Given the description of an element on the screen output the (x, y) to click on. 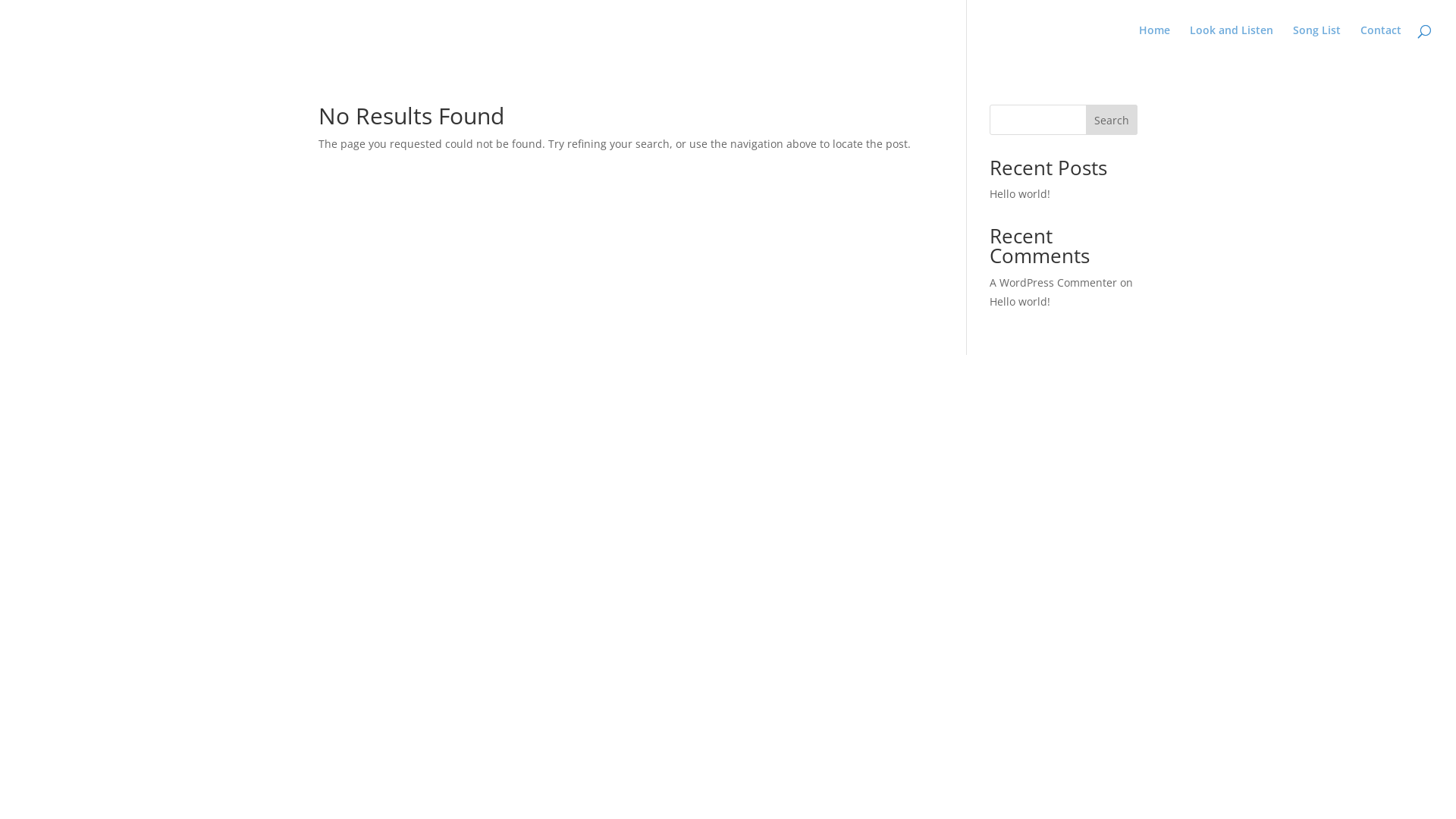
Contact Element type: text (1380, 42)
A WordPress Commenter Element type: text (1053, 282)
Song List Element type: text (1316, 42)
Home Element type: text (1154, 42)
Hello world! Element type: text (1019, 301)
Look and Listen Element type: text (1231, 42)
Hello world! Element type: text (1019, 193)
Search Element type: text (1111, 119)
